Given the description of an element on the screen output the (x, y) to click on. 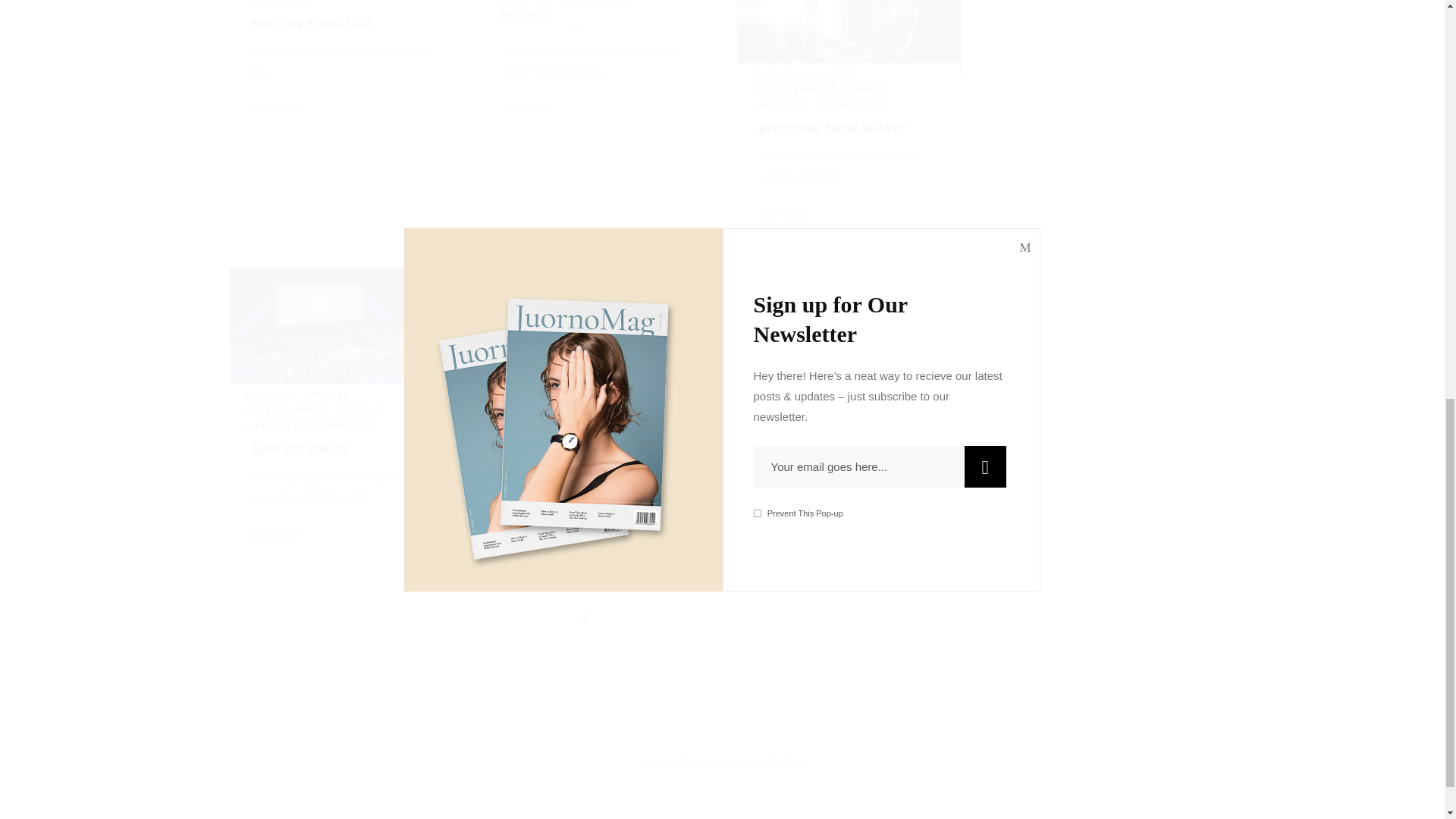
So you bought some Bitcoins. Now what? (848, 36)
The Netflix show you need in your life (328, 15)
How to ask your boss for a raise (584, 15)
So you bought some Bitcoins. Now what? (832, 120)
